Given the description of an element on the screen output the (x, y) to click on. 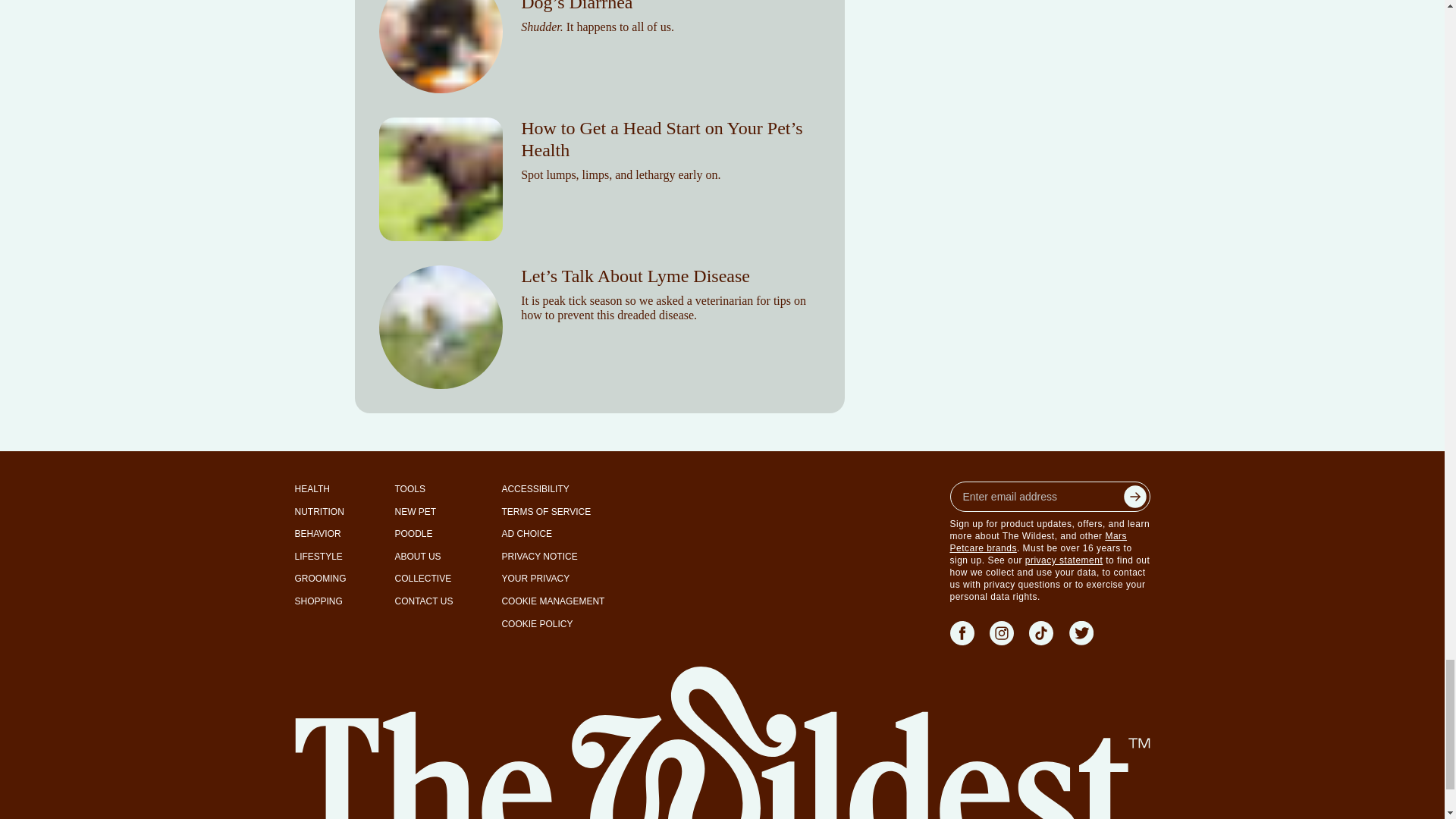
The Wildest Logo (722, 742)
HEALTH (311, 489)
NUTRITION (318, 512)
